Given the description of an element on the screen output the (x, y) to click on. 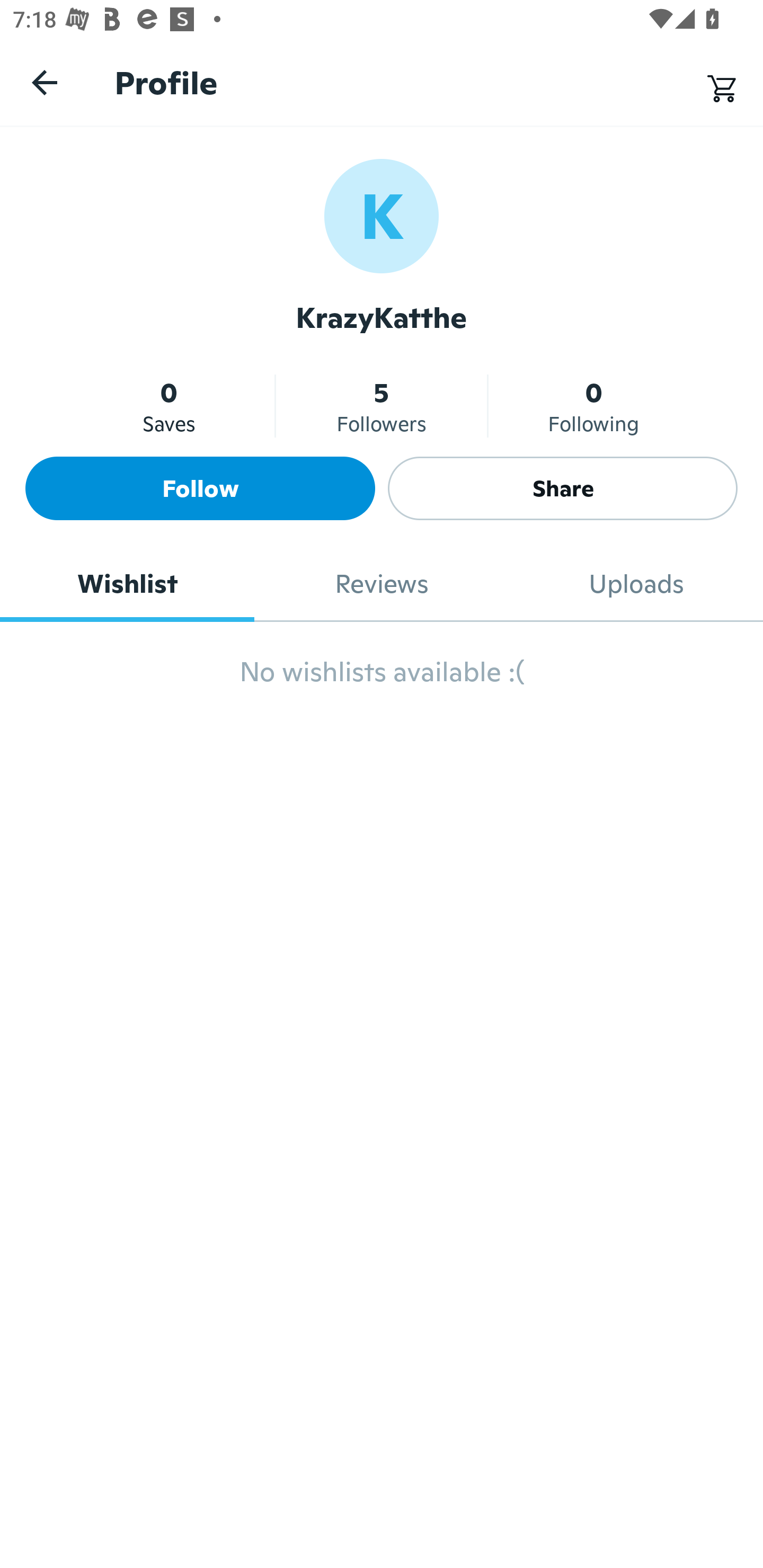
Navigate up (44, 82)
K (381, 215)
5 Followers (381, 405)
0 Following (593, 405)
Follow (200, 488)
Share (562, 488)
Wishlist (127, 583)
Reviews (381, 583)
Uploads (635, 583)
No wishlists available :( (381, 679)
